Given the description of an element on the screen output the (x, y) to click on. 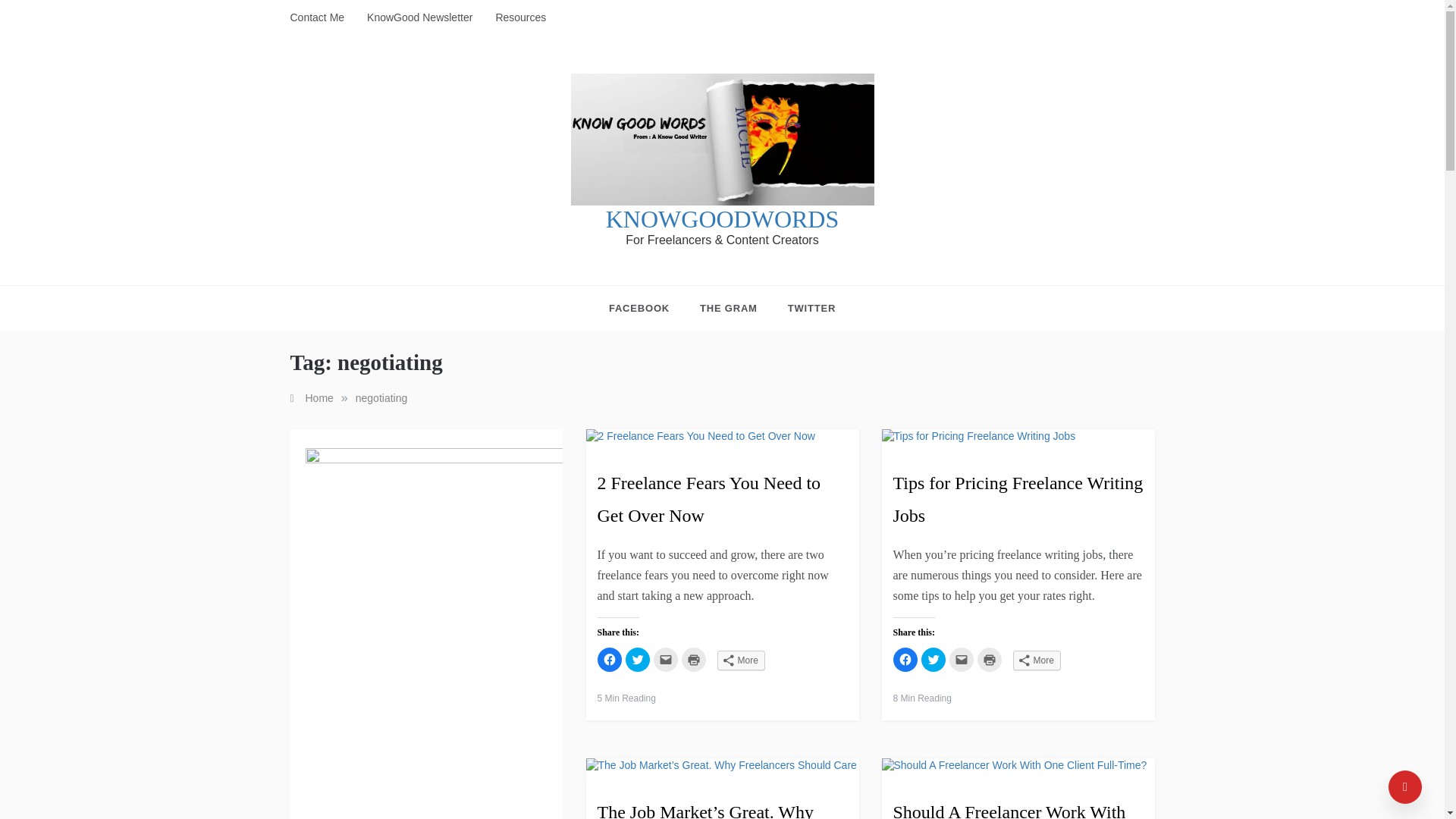
Tips for Pricing Freelance Writing Jobs (1017, 499)
THE GRAM (728, 308)
Contact Me (322, 17)
Resources (514, 17)
negotiating (381, 398)
KnowGood Newsletter (419, 17)
Click to print (988, 659)
Click to share on Twitter (636, 659)
KNOWGOODWORDS (722, 218)
Click to share on Facebook (905, 659)
TWITTER (804, 308)
FACEBOOK (646, 308)
Click to email a link to a friend (665, 659)
Click to email a link to a friend (961, 659)
More (741, 660)
